Given the description of an element on the screen output the (x, y) to click on. 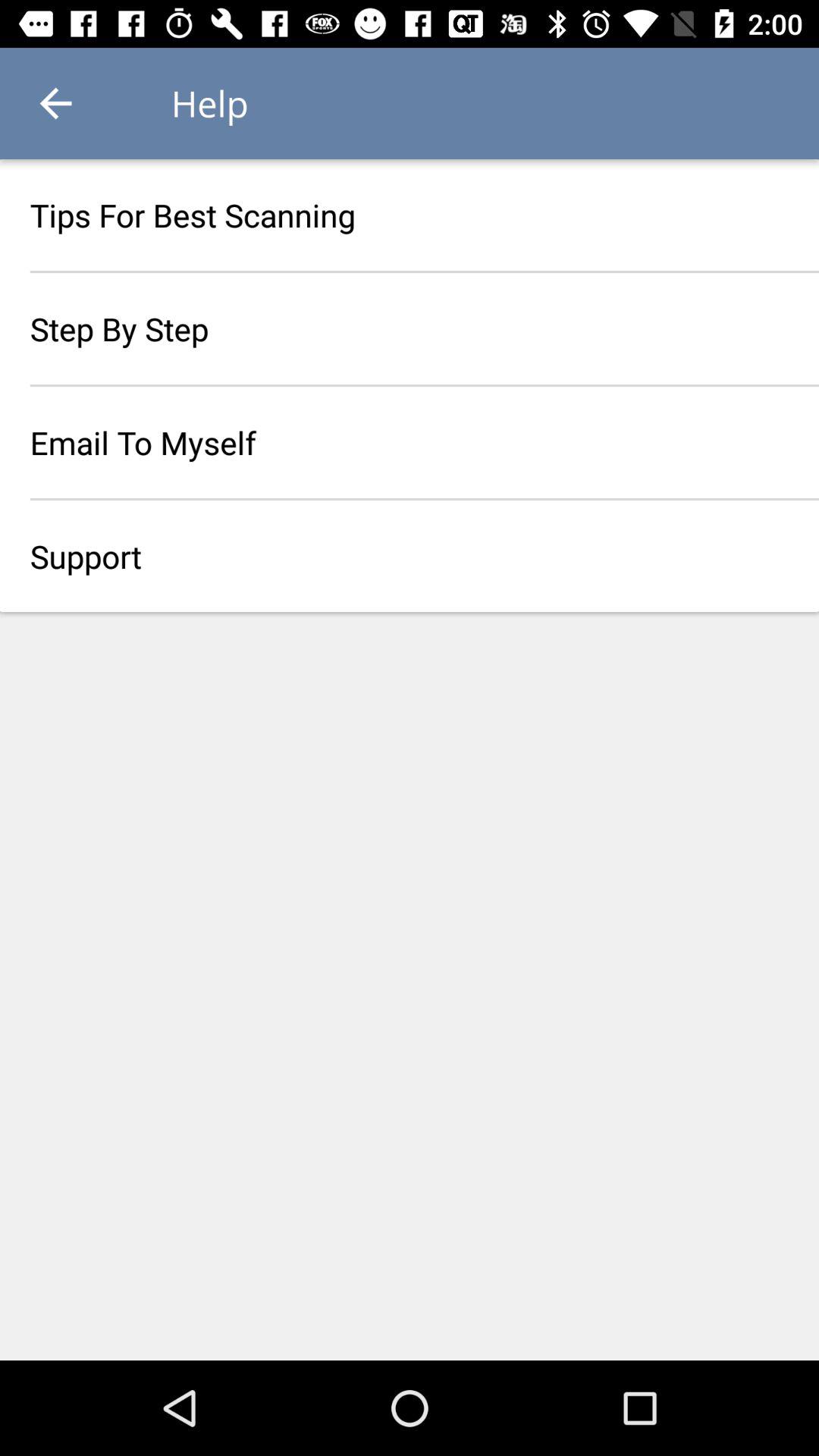
choose item above the support icon (409, 442)
